Given the description of an element on the screen output the (x, y) to click on. 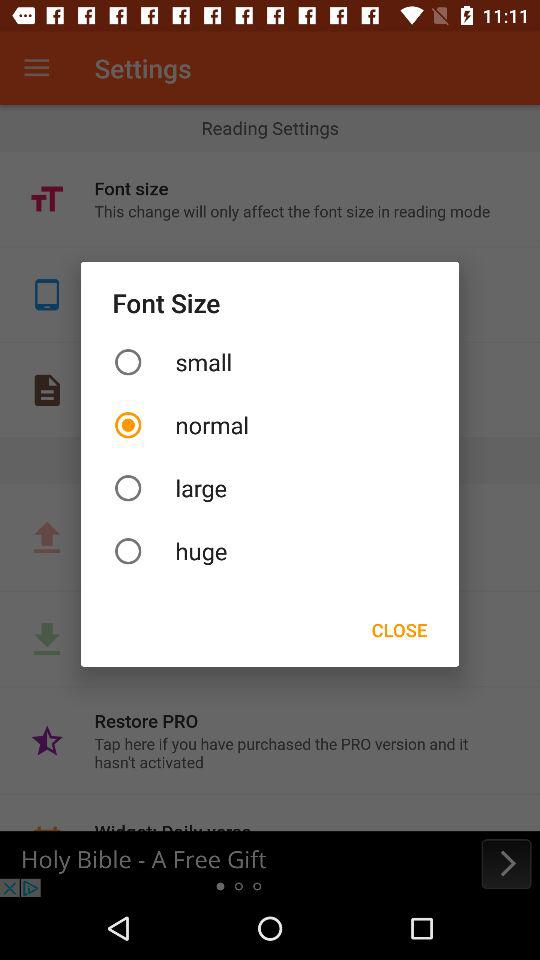
tap small icon (270, 361)
